Given the description of an element on the screen output the (x, y) to click on. 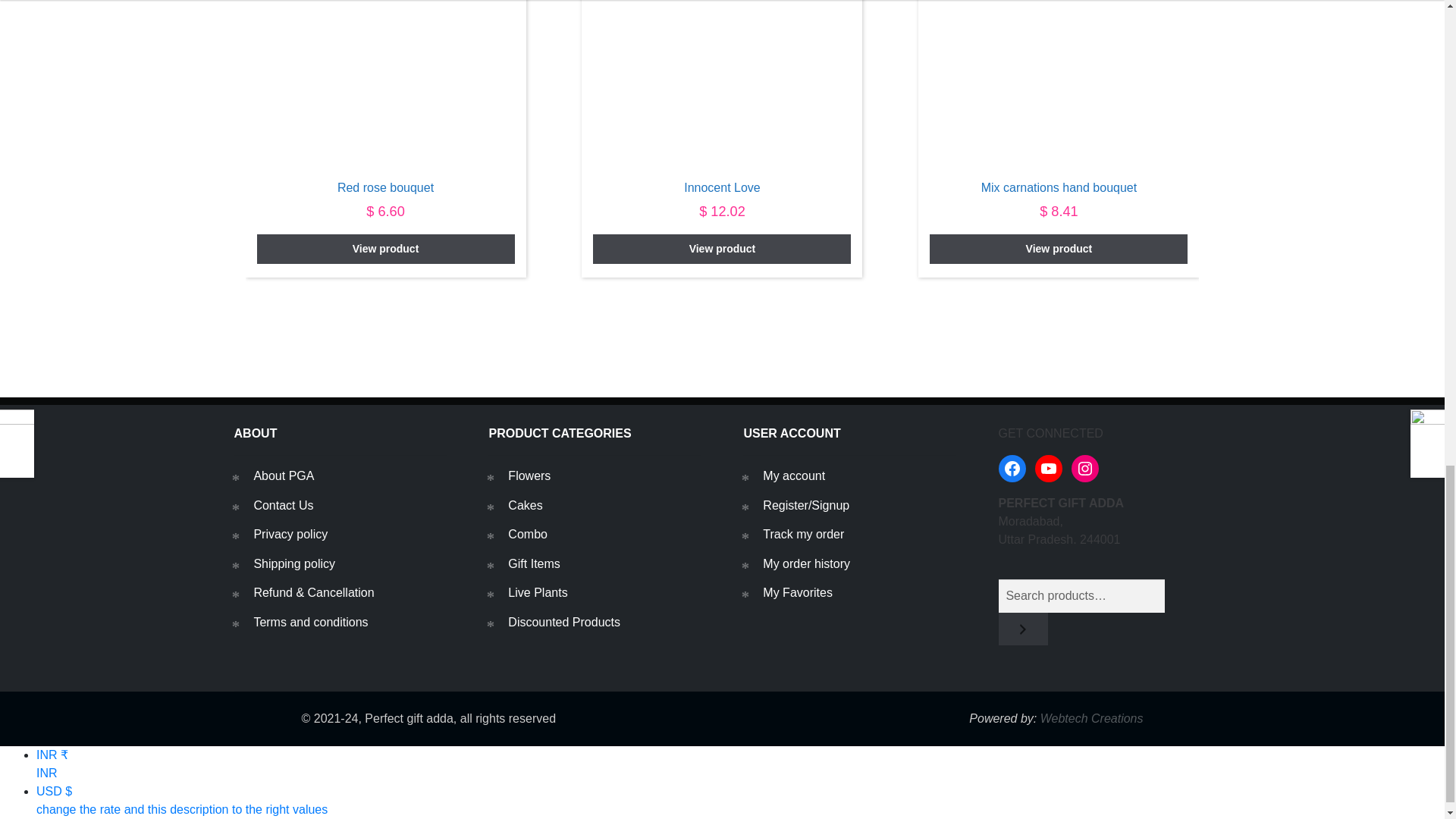
View product (721, 248)
View product (1059, 248)
View product (386, 248)
